Given the description of an element on the screen output the (x, y) to click on. 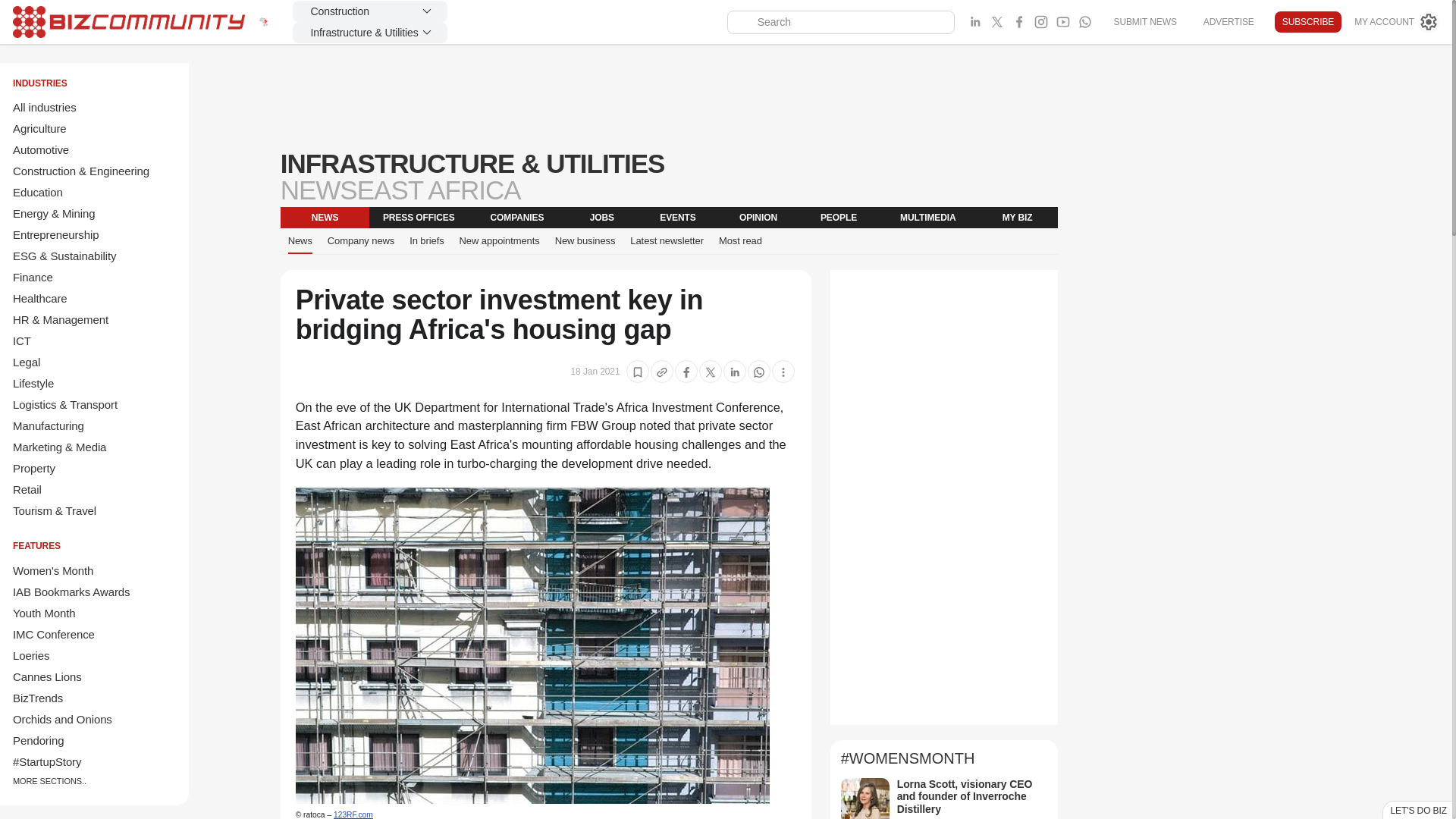
3rd party ad content (668, 97)
Bizcommunity instagram (1040, 22)
MY ACCOUNT (1396, 21)
Bizcommunity facebook (1018, 22)
Construction (369, 11)
ADVERTISE (1228, 21)
Bizcommunity facebook (1084, 22)
SUBSCRIBE (1307, 21)
Bizcommunity youtube (1062, 22)
Bizcommunity linked (975, 22)
